Given the description of an element on the screen output the (x, y) to click on. 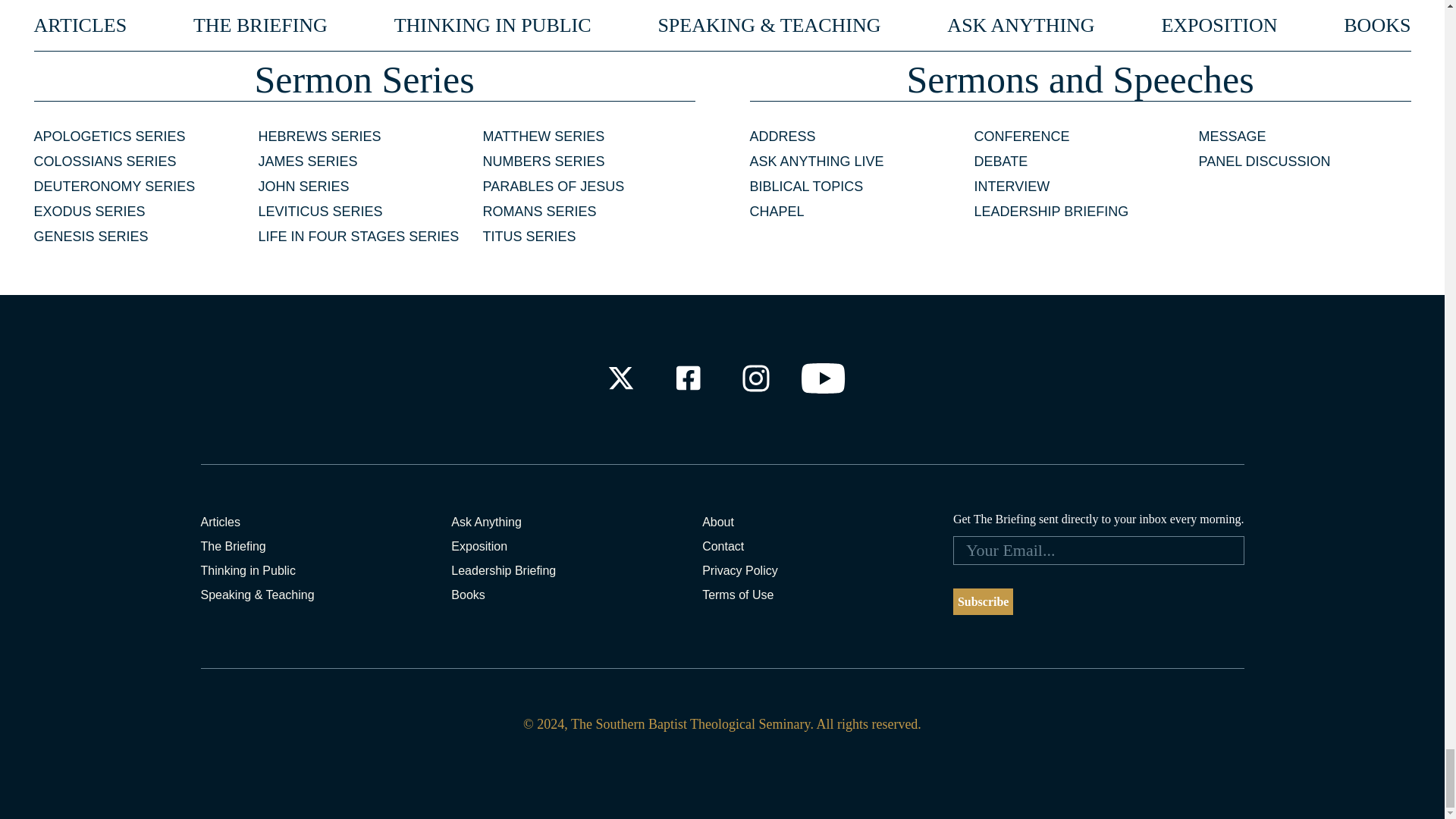
Check out our X Profile (620, 377)
Check out our Facebook Profile (687, 377)
Check out our Instagram Profile (755, 377)
Check out our Youtube Channel (822, 377)
Subscribe (983, 601)
